Given the description of an element on the screen output the (x, y) to click on. 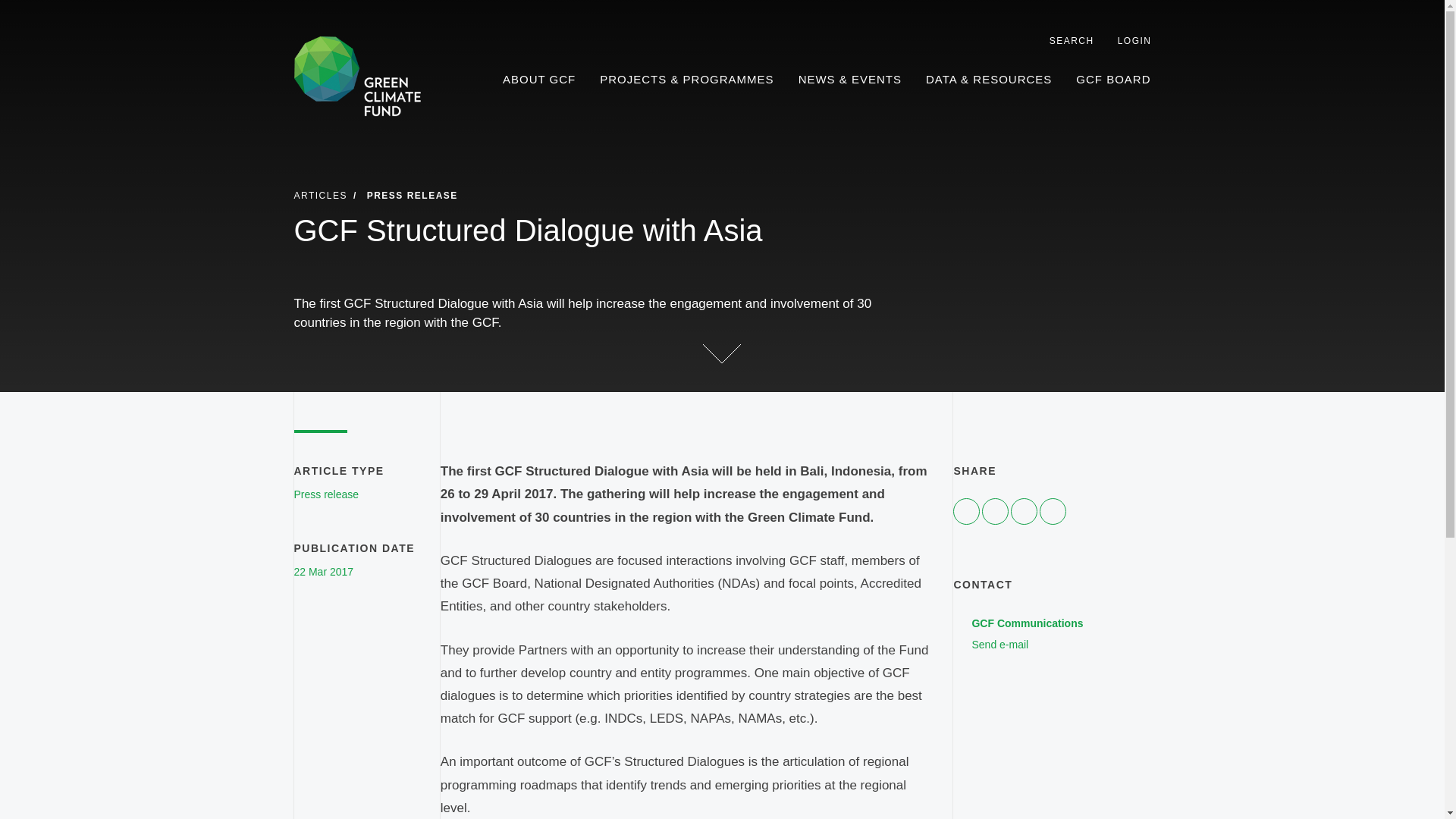
Share on LinkedIn (1023, 510)
Share on Facebook (966, 510)
Print (1052, 510)
LOGIN (1127, 41)
Share on Twitter (539, 79)
SEARCH (995, 510)
